Given the description of an element on the screen output the (x, y) to click on. 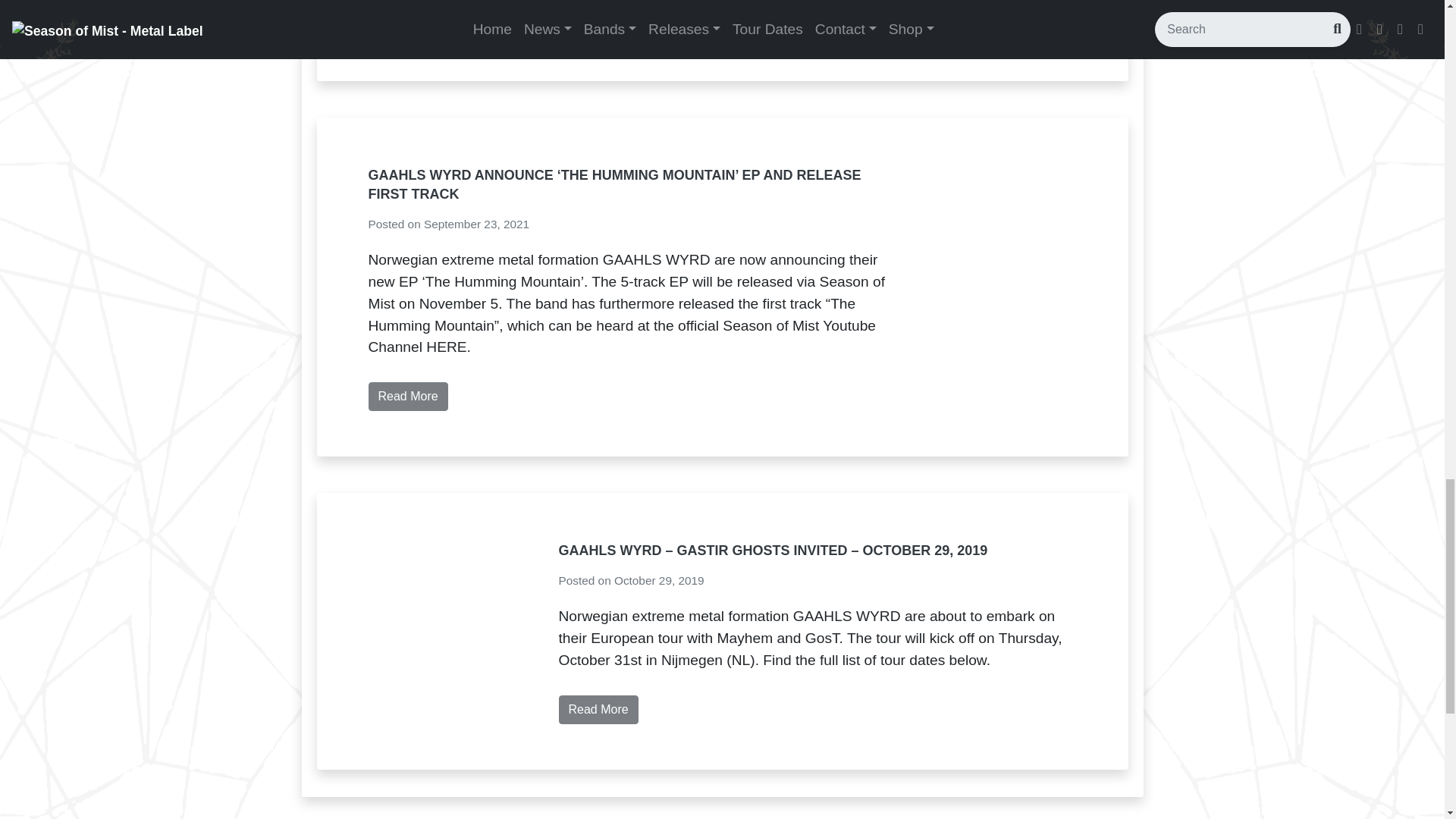
Read More (408, 396)
Read More (597, 21)
Read More (597, 709)
